Given the description of an element on the screen output the (x, y) to click on. 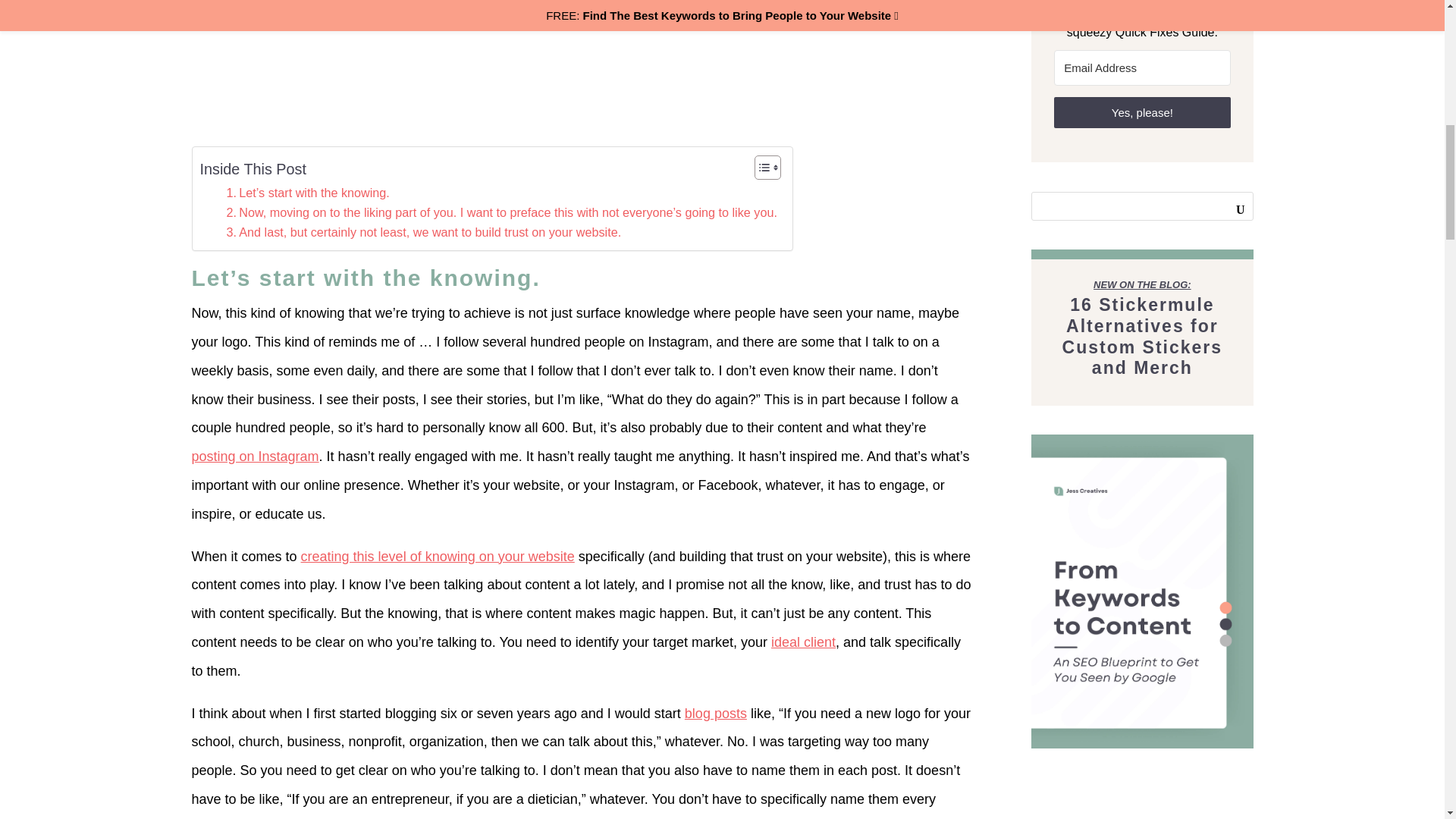
posting on Instagram (254, 456)
Search (1228, 206)
Search (1228, 206)
creating this level of knowing on your website (438, 556)
ideal client (803, 642)
blog posts (715, 712)
